Given the description of an element on the screen output the (x, y) to click on. 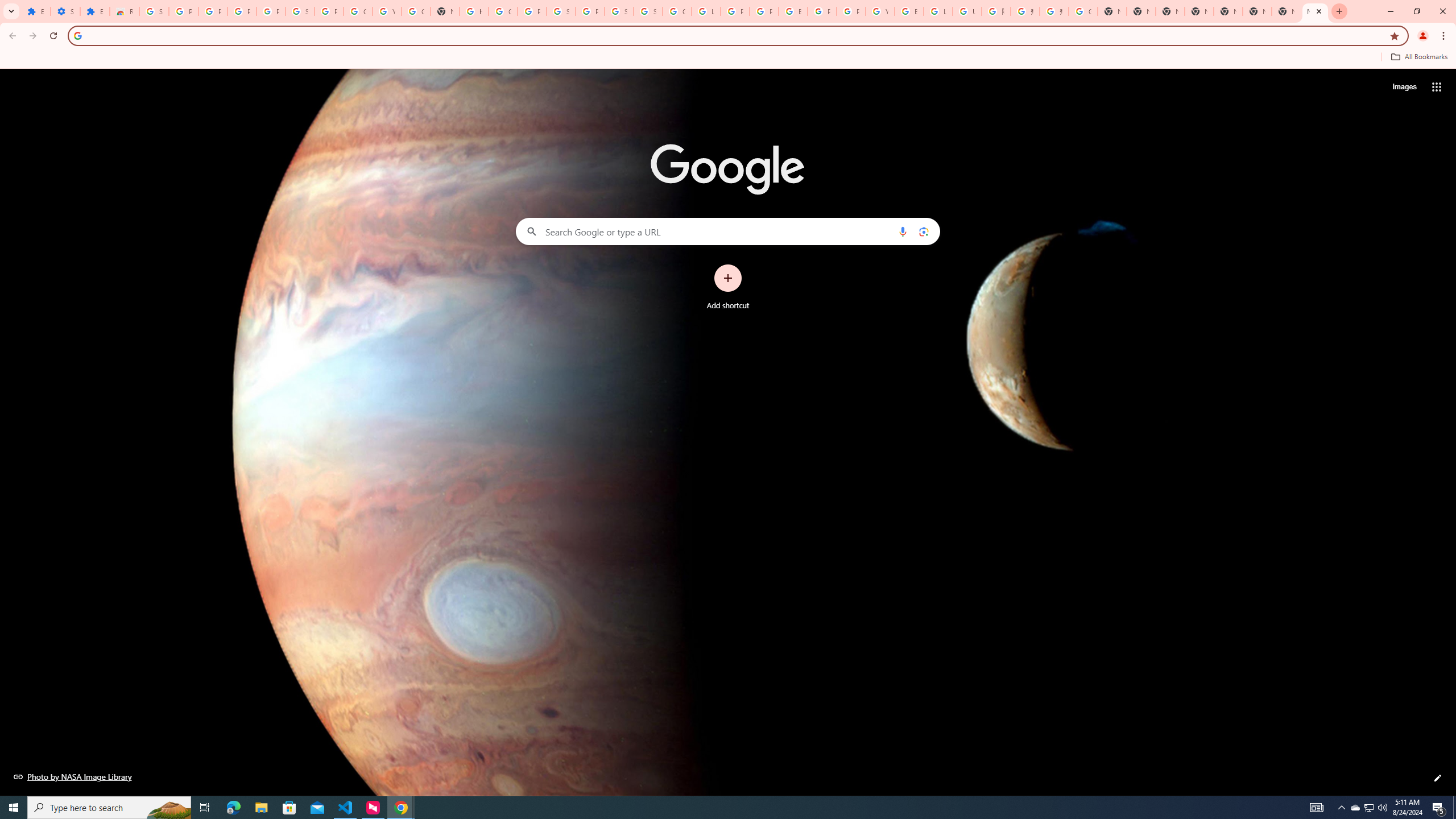
Search by image (922, 230)
Add shortcut (727, 287)
YouTube (879, 11)
All Bookmarks (1418, 56)
Extensions (95, 11)
New Tab (1315, 11)
https://scholar.google.com/ (473, 11)
Privacy Help Center - Policies Help (734, 11)
